Given the description of an element on the screen output the (x, y) to click on. 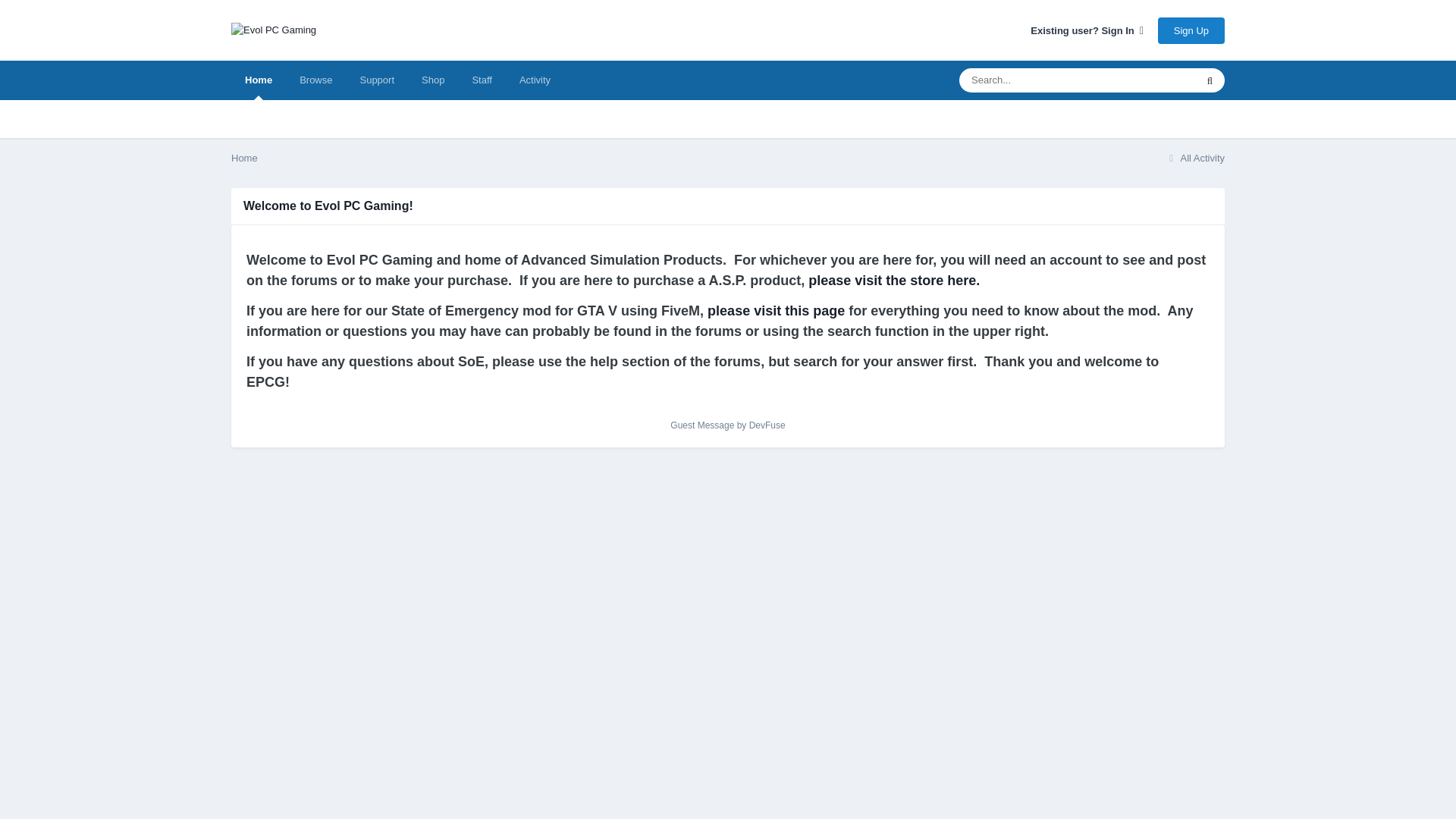
Activity (534, 79)
Browse (315, 79)
Shop (432, 79)
please visit the store here. (892, 280)
All Activity (1194, 157)
Existing user? Sign In   (1086, 30)
Home (258, 79)
Home (244, 157)
Support (376, 79)
Sign Up (1190, 29)
